Given the description of an element on the screen output the (x, y) to click on. 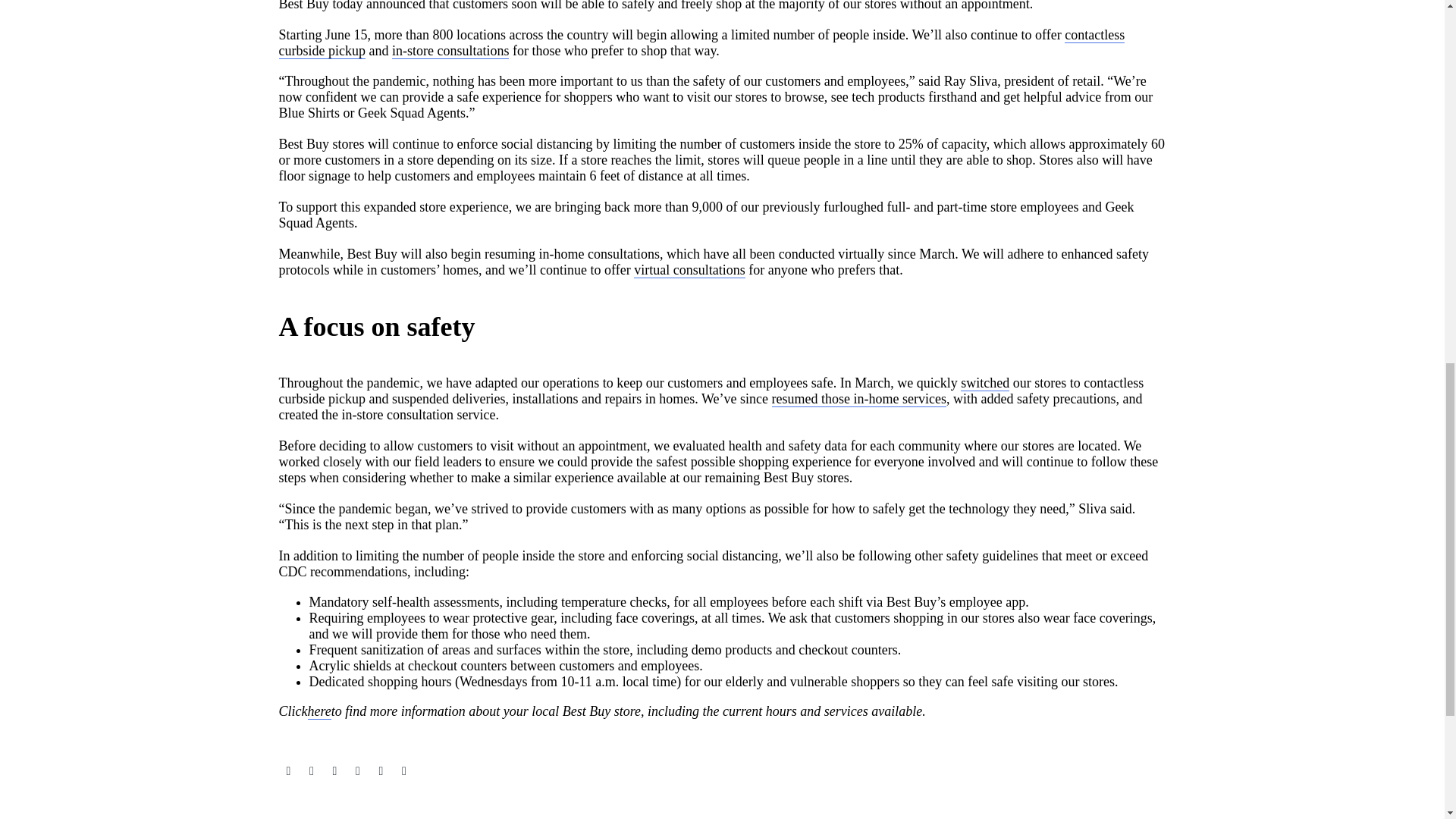
LinkedIn (380, 770)
contactless curbside pickup (702, 42)
Pinterest (334, 770)
here (319, 711)
Facebook (288, 770)
switched (984, 383)
virtual consultations (688, 270)
Twitter (311, 770)
in-store consultations (449, 50)
Reddit (403, 770)
resumed those in-home services (858, 399)
Tumblr (358, 770)
